Given the description of an element on the screen output the (x, y) to click on. 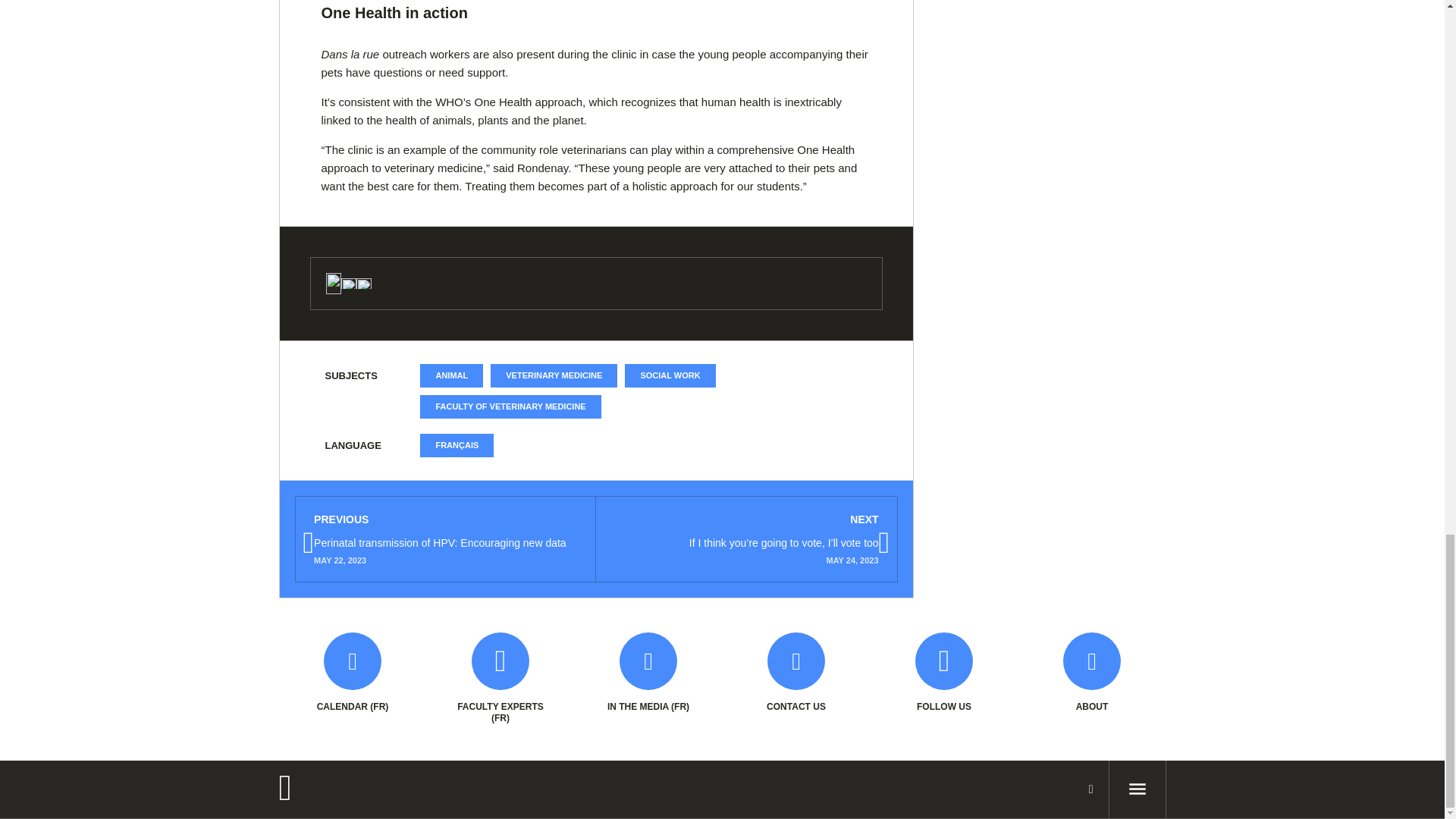
VETERINARY MEDICINE (553, 375)
SOCIAL WORK (669, 375)
ANIMAL (451, 375)
FACULTY OF VETERINARY MEDICINE (509, 406)
Perinatal transmission of HPV: Encouraging new data (444, 539)
